Given the description of an element on the screen output the (x, y) to click on. 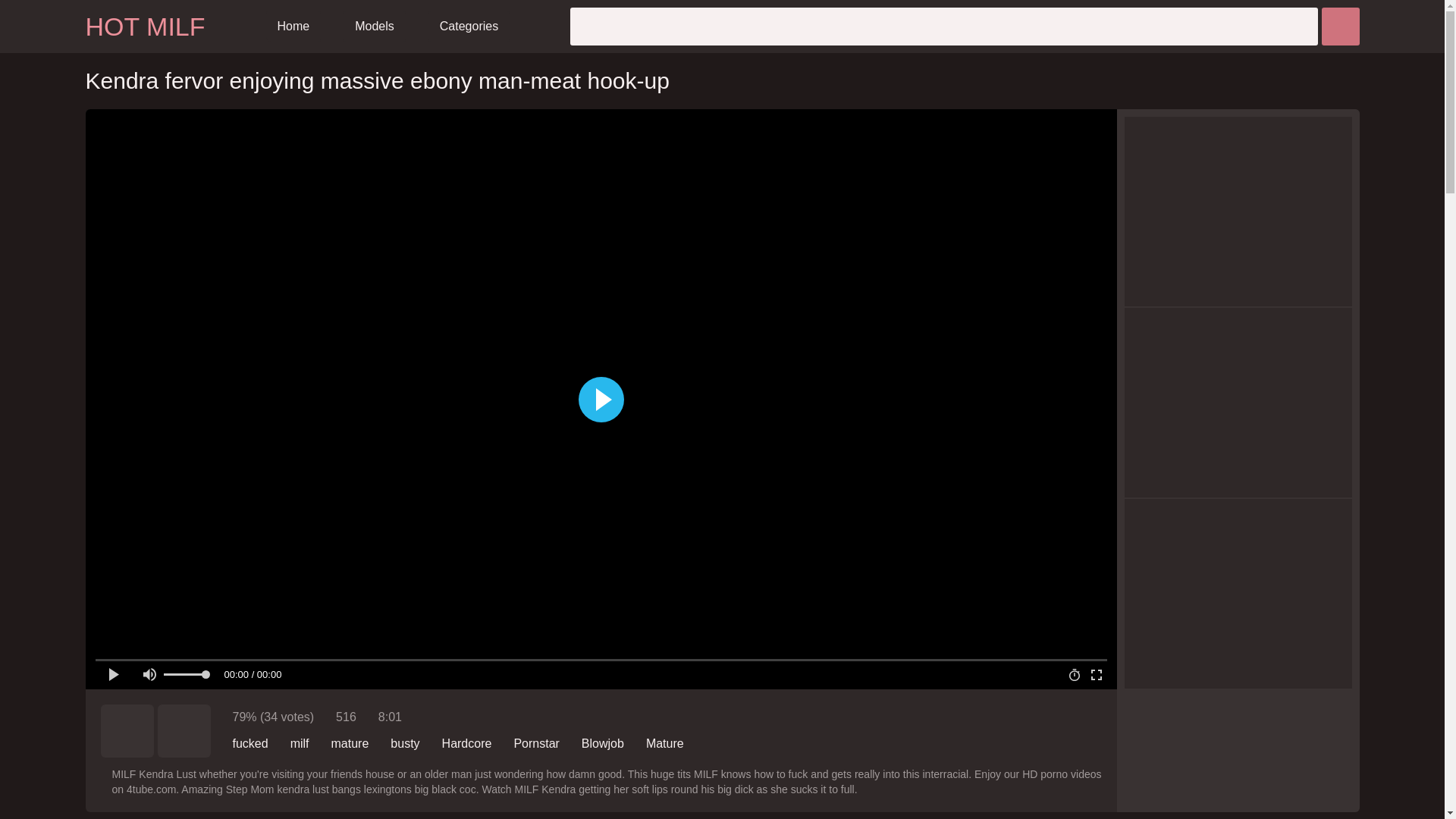
mature (350, 743)
Models (374, 26)
Hardcore (467, 743)
Blowjob (602, 743)
Pornstar (536, 743)
Home (293, 26)
milf (298, 743)
Categories (468, 26)
HOT MILF (144, 26)
Search (1339, 26)
busty (404, 743)
fucked (249, 743)
Mature (665, 743)
